Given the description of an element on the screen output the (x, y) to click on. 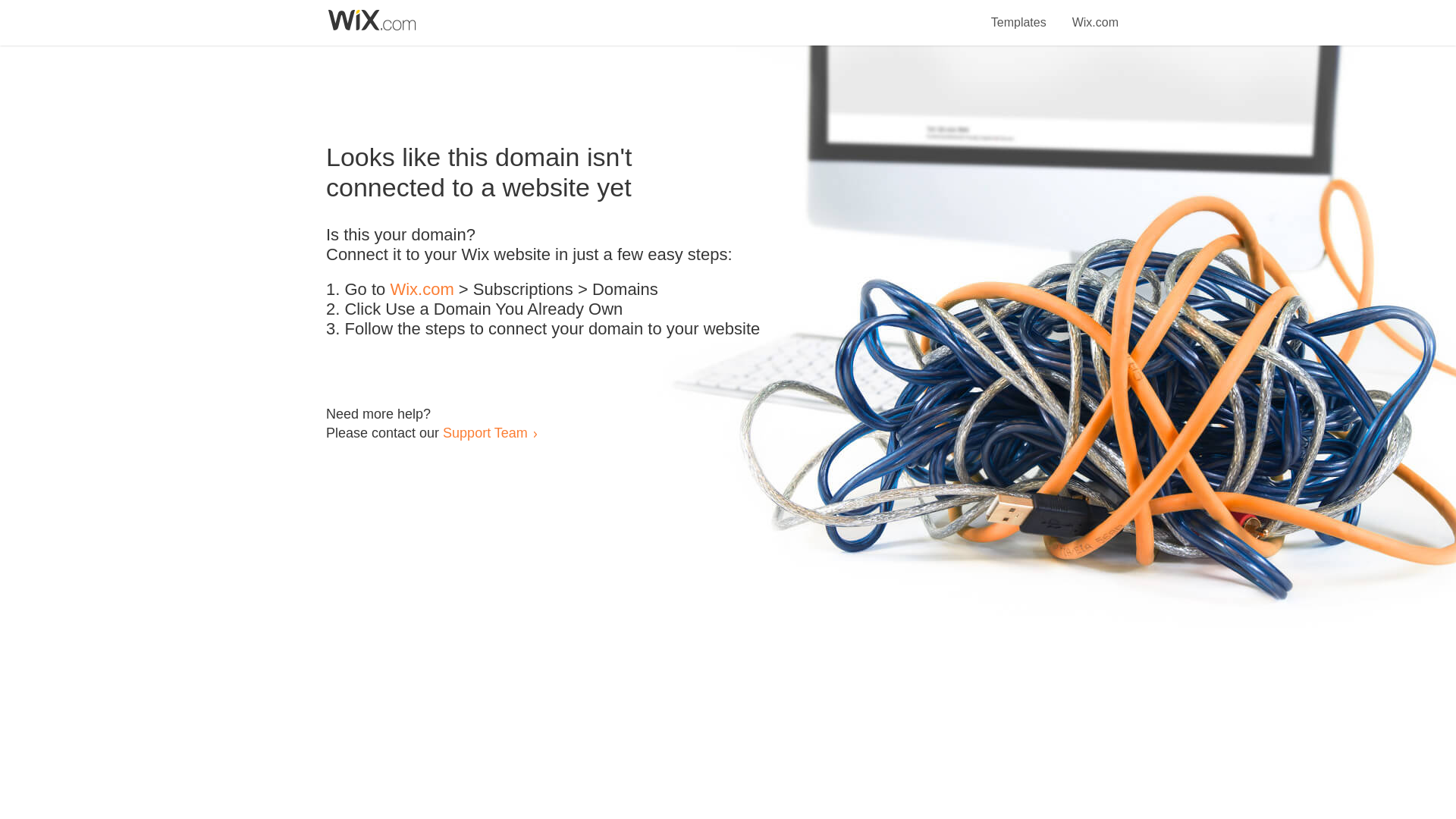
Wix.com (421, 289)
Templates (1018, 14)
Wix.com (1095, 14)
Support Team (484, 432)
